Given the description of an element on the screen output the (x, y) to click on. 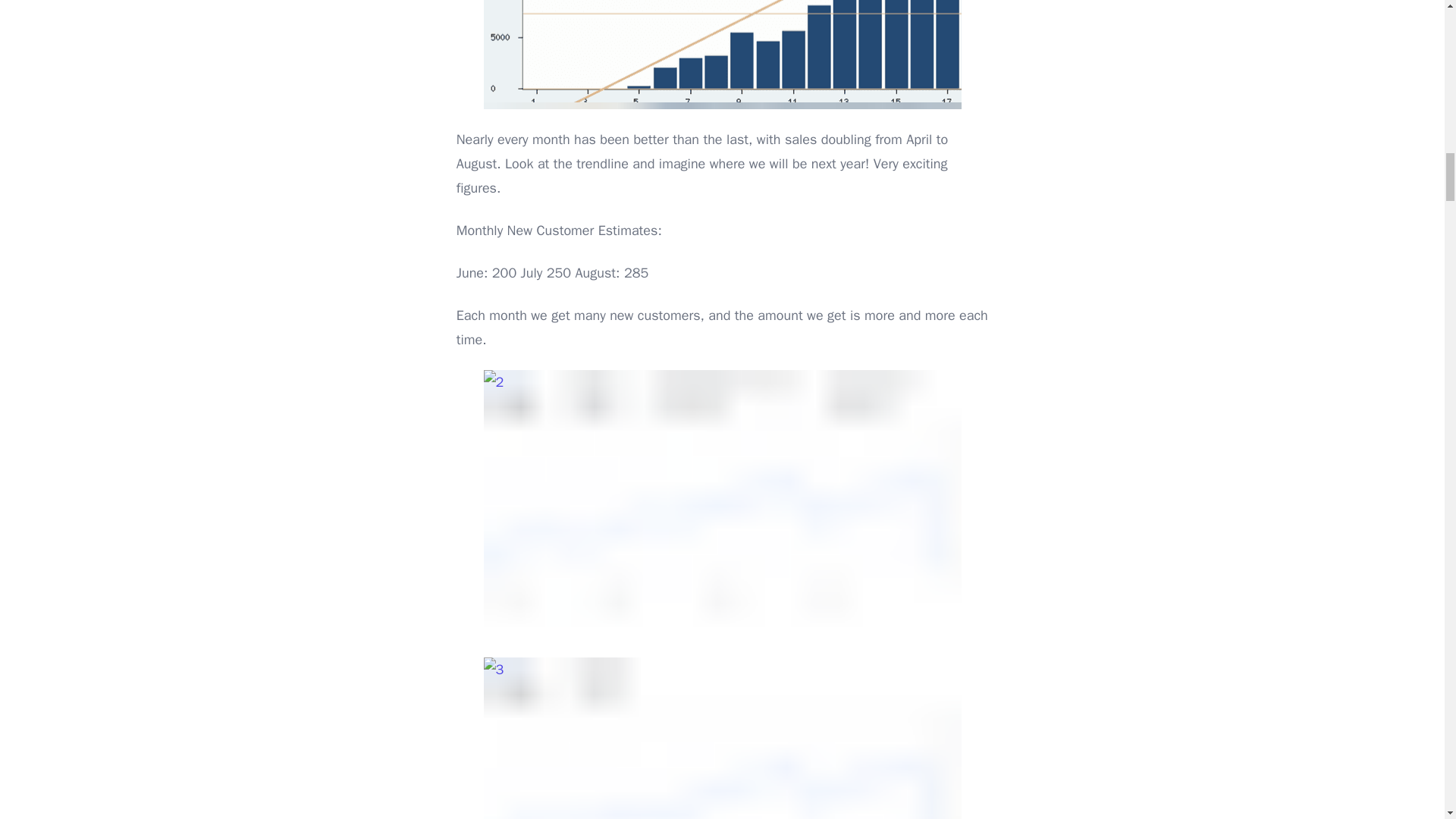
FemScat page view growth (721, 738)
FemScat users growth (721, 504)
month-to-month growth of gross sales revenue for FemScat.com (721, 54)
